Given the description of an element on the screen output the (x, y) to click on. 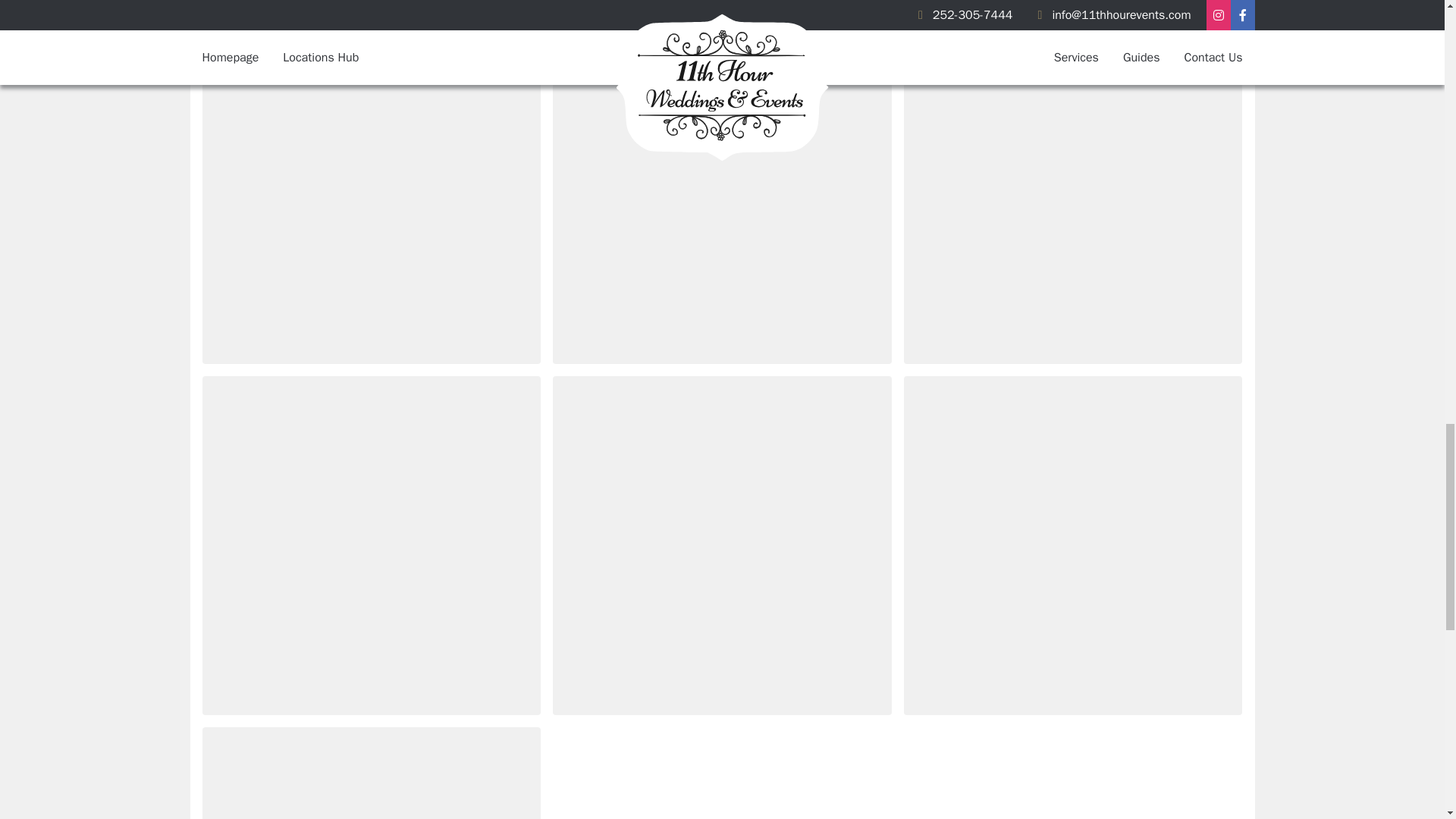
Pine Island Lodge (1073, 544)
Outer Banks Pier Weddings (722, 194)
Basnight Event Home (371, 544)
Paws and Claws (371, 773)
The Pointe Golf Club Outer Banks NC (371, 6)
Knot Home (722, 544)
Newbern Event Home (371, 194)
Crew Quarters (1073, 194)
Austin Event Home (1073, 6)
Sandbridge Beach Virginia Weddings (722, 6)
